Given the description of an element on the screen output the (x, y) to click on. 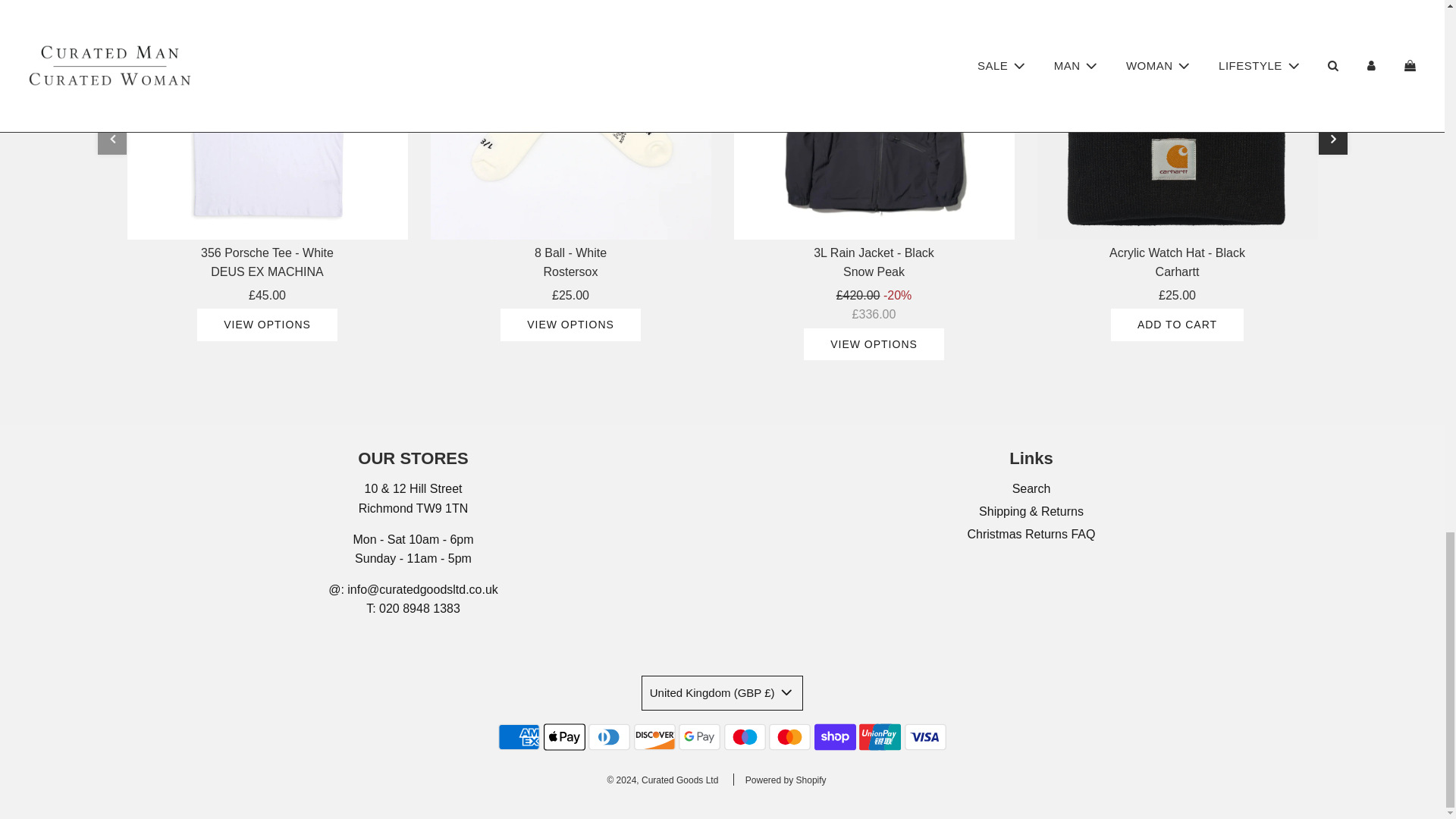
Maestro (744, 736)
Acrylic Watch Hat - Black (1176, 119)
Mastercard (789, 736)
356 Porsche Tee - White (267, 119)
3L Rain Jacket - Black (873, 119)
Union Pay (880, 736)
Visa (925, 736)
Google Pay (699, 736)
Apple Pay (564, 736)
American Express (518, 736)
